Given the description of an element on the screen output the (x, y) to click on. 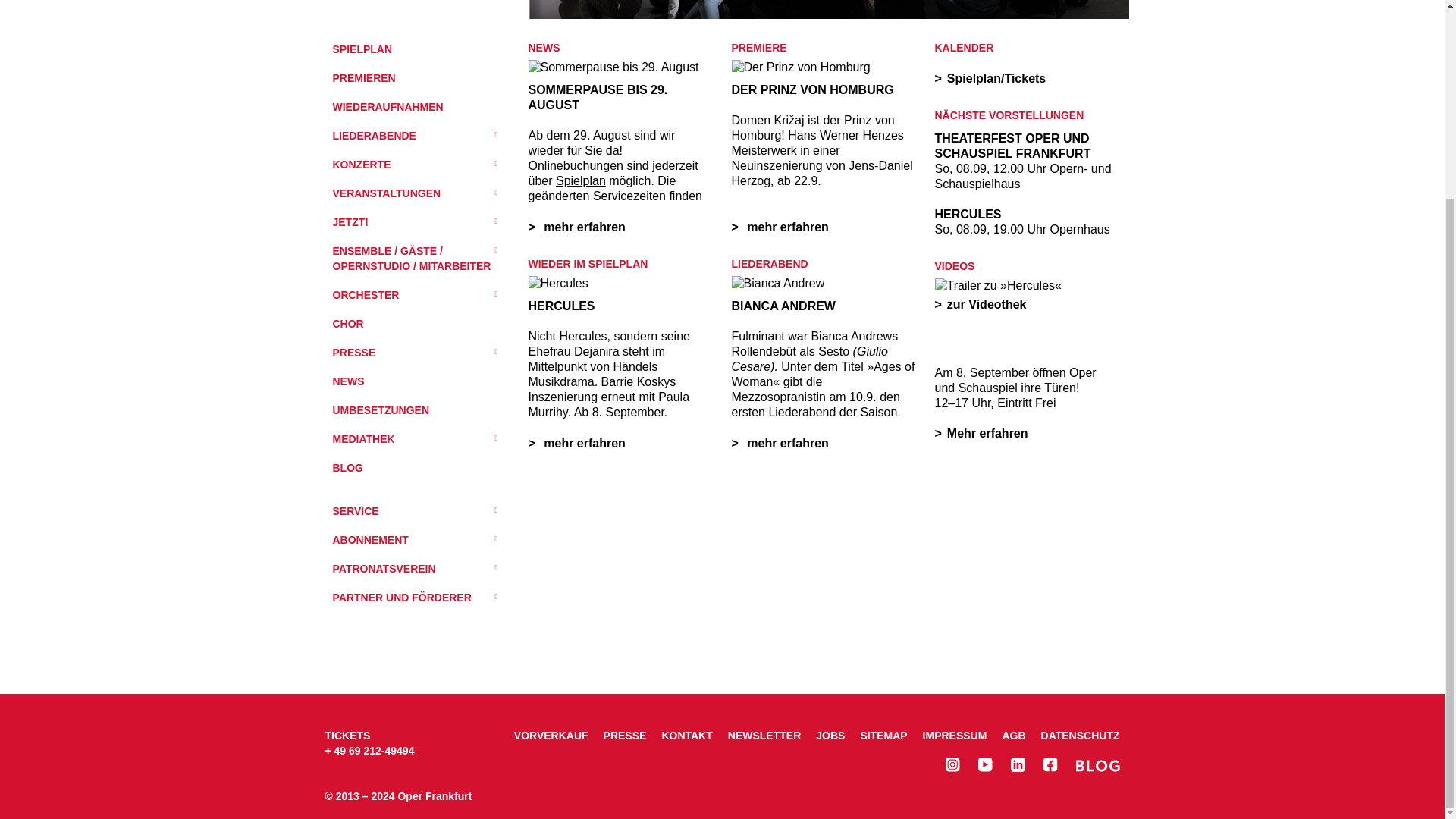
LIEDERABENDE (416, 134)
KONZERTE (416, 163)
PREMIEREN (416, 76)
SPIELPLAN (416, 48)
